Given the description of an element on the screen output the (x, y) to click on. 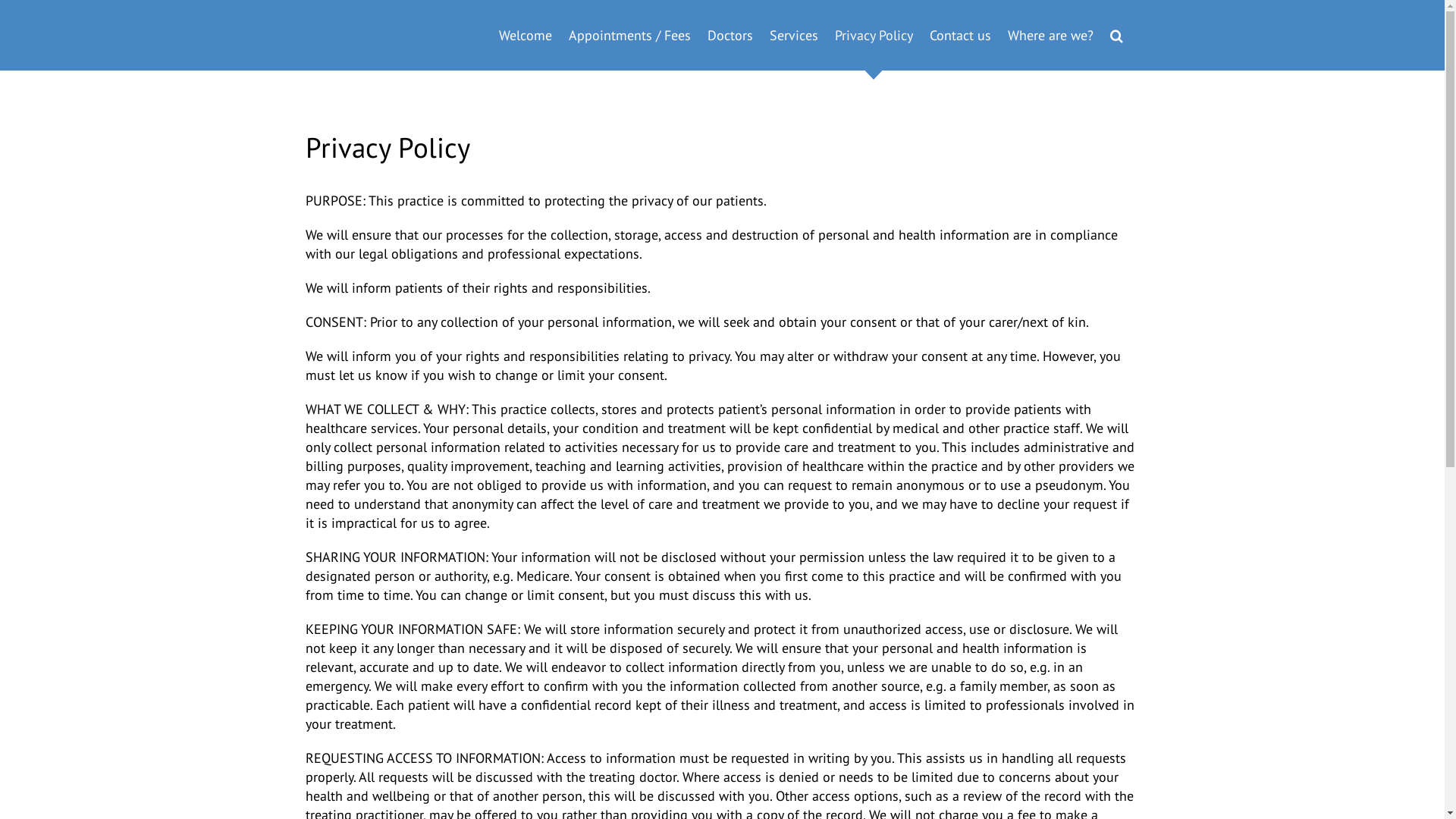
Where are we? Element type: text (1049, 35)
Doctors Element type: text (729, 35)
Contact us Element type: text (960, 35)
Appointments / Fees Element type: text (629, 35)
Privacy Policy Element type: text (873, 35)
Services Element type: text (792, 35)
Search Element type: hover (1116, 35)
Welcome Element type: text (525, 35)
